Given the description of an element on the screen output the (x, y) to click on. 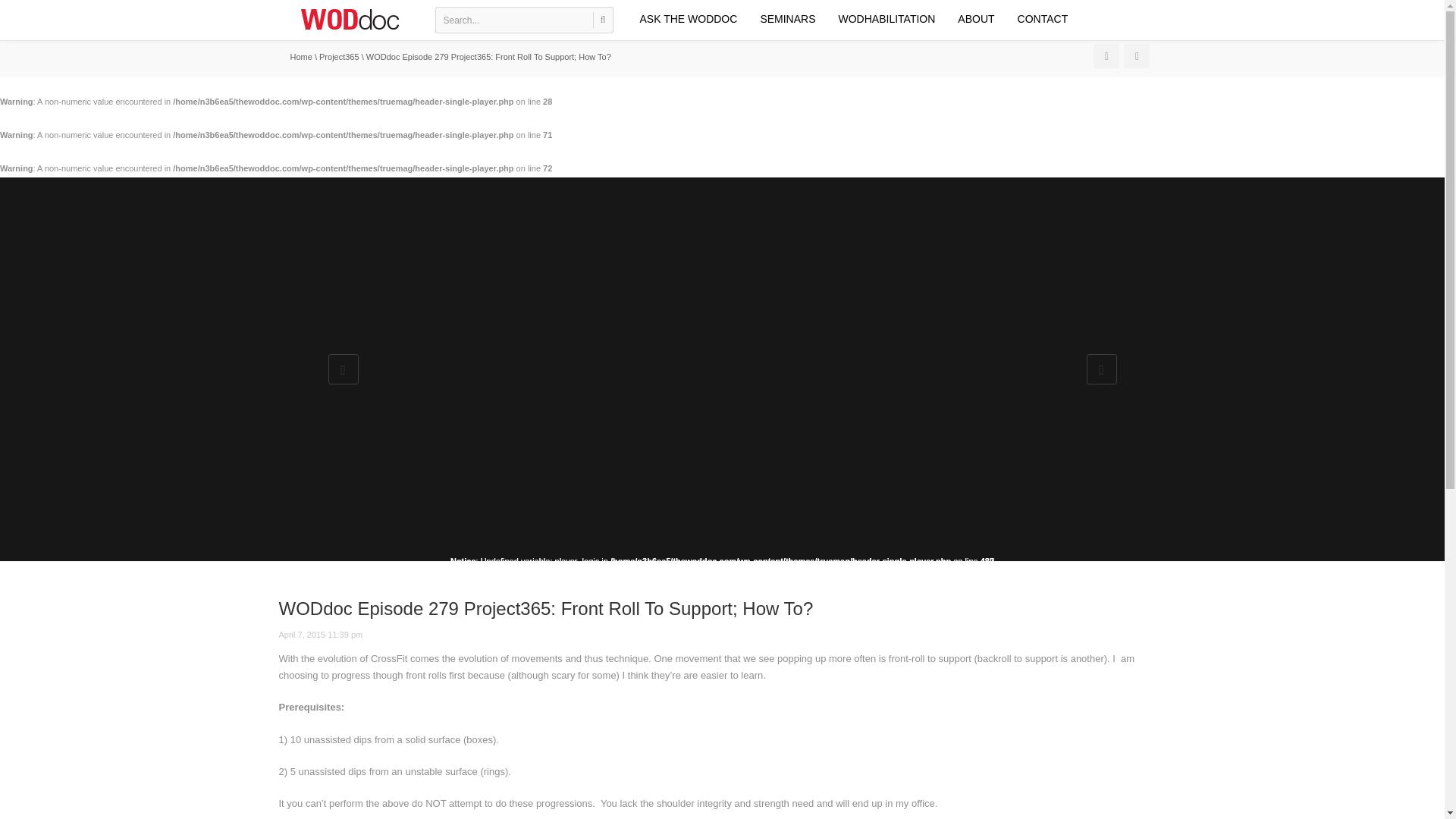
CONTACT (1037, 18)
SEMINARS (787, 18)
ASK THE WODDOC (687, 18)
Project365 (338, 56)
ABOUT (976, 18)
Home (300, 56)
WODHABILITATION (886, 18)
